Given the description of an element on the screen output the (x, y) to click on. 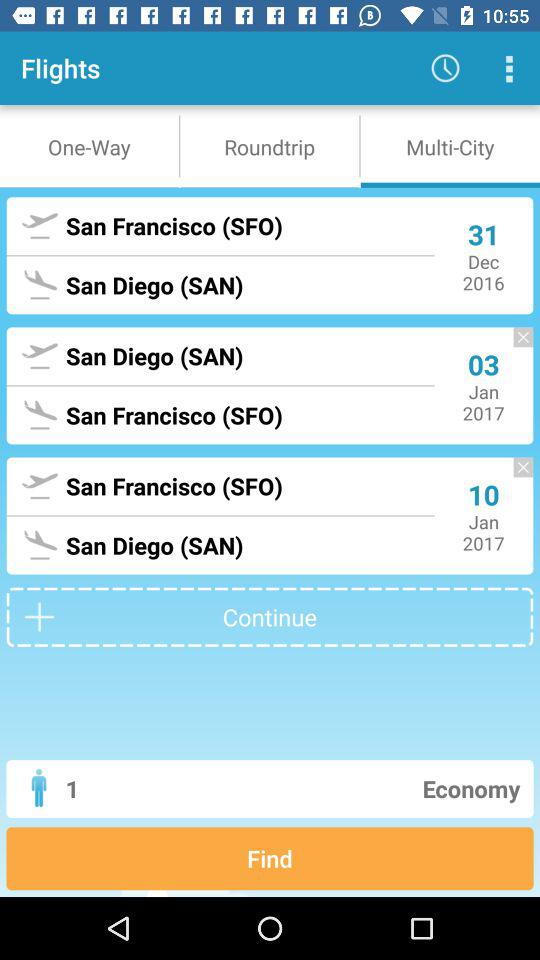
menu (508, 67)
